Given the description of an element on the screen output the (x, y) to click on. 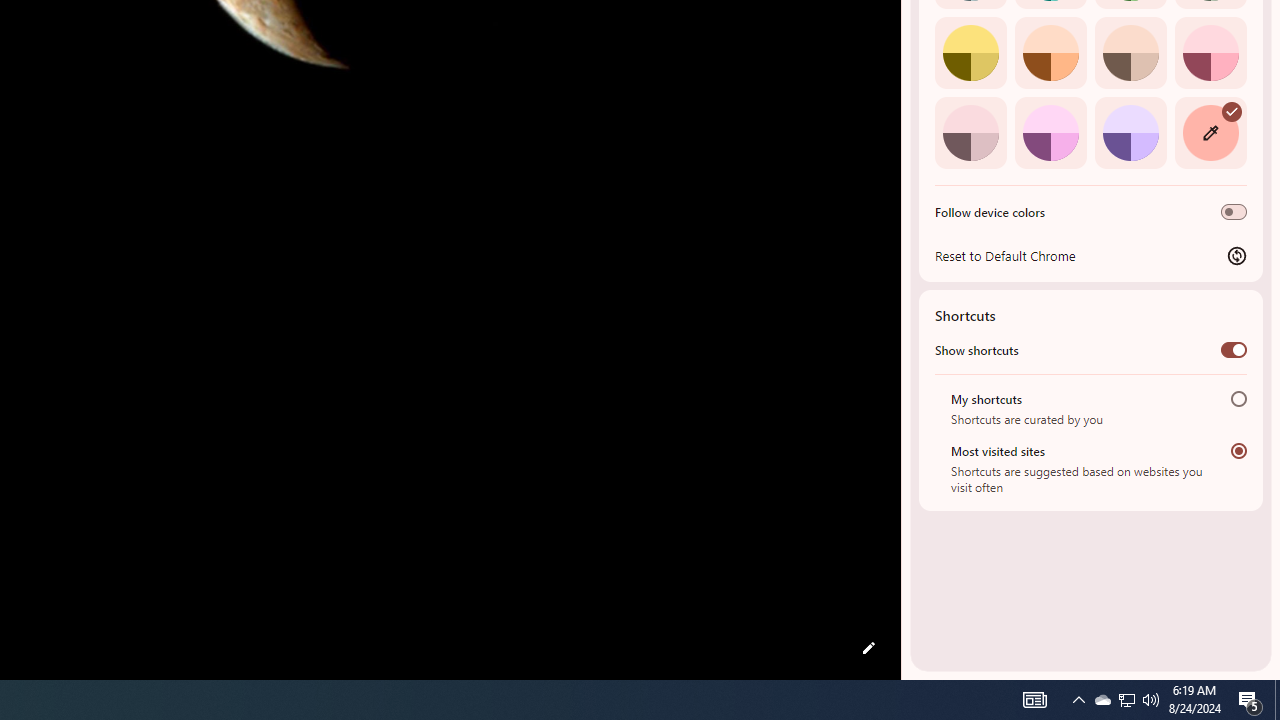
Orange (1050, 52)
Pink (970, 132)
